Given the description of an element on the screen output the (x, y) to click on. 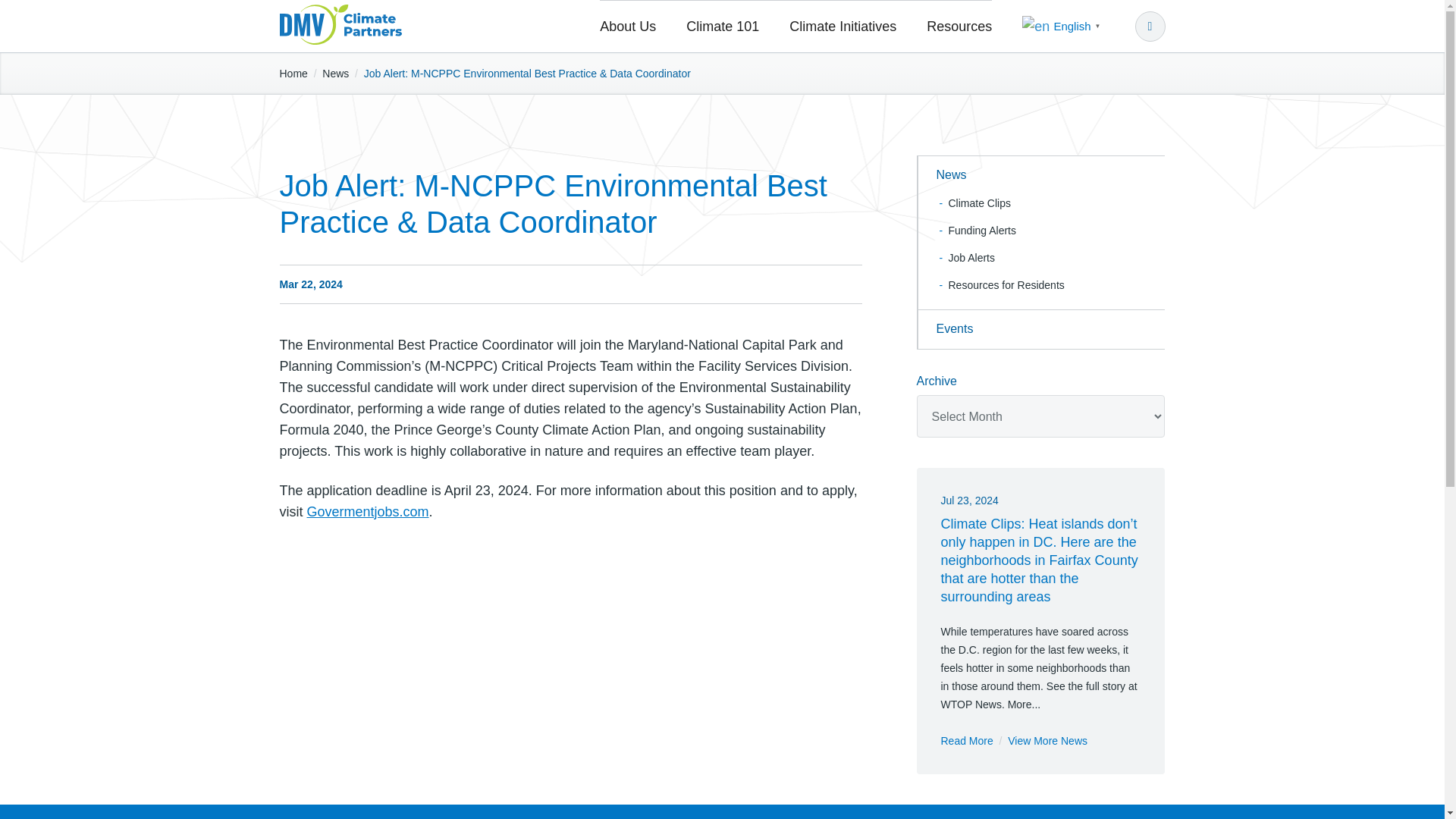
Climate 101 (722, 26)
Mar 22, 2024 (310, 284)
Climate Initiatives (842, 26)
News (1040, 175)
Home (293, 73)
Events (1040, 329)
News (335, 73)
About Us (635, 26)
Govermentjobs.com (366, 511)
Jul 23, 2024 (968, 500)
Climate Clips (973, 203)
Job Alerts (965, 257)
Funding Alerts (976, 230)
Resources (951, 26)
Resources for Residents (1000, 285)
